Given the description of an element on the screen output the (x, y) to click on. 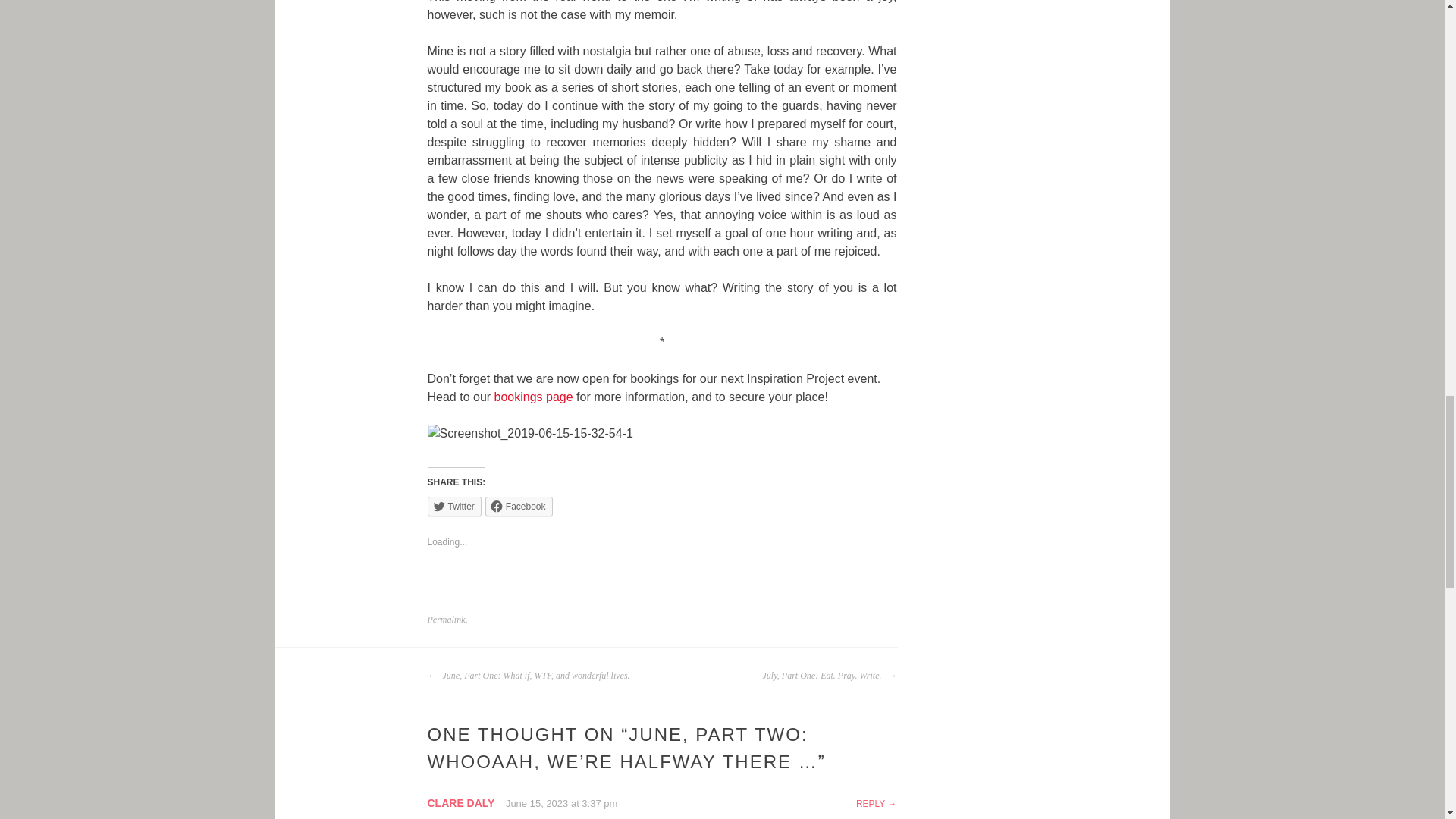
Click to share on Twitter (454, 506)
Facebook (518, 506)
Click to share on Facebook (518, 506)
June 15, 2023 at 3:37 pm (561, 803)
bookings page (534, 396)
 June, Part One: What if, WTF, and wonderful lives. (529, 675)
Twitter (454, 506)
Permalink (446, 619)
REPLY (876, 803)
CLARE DALY (461, 802)
